Given the description of an element on the screen output the (x, y) to click on. 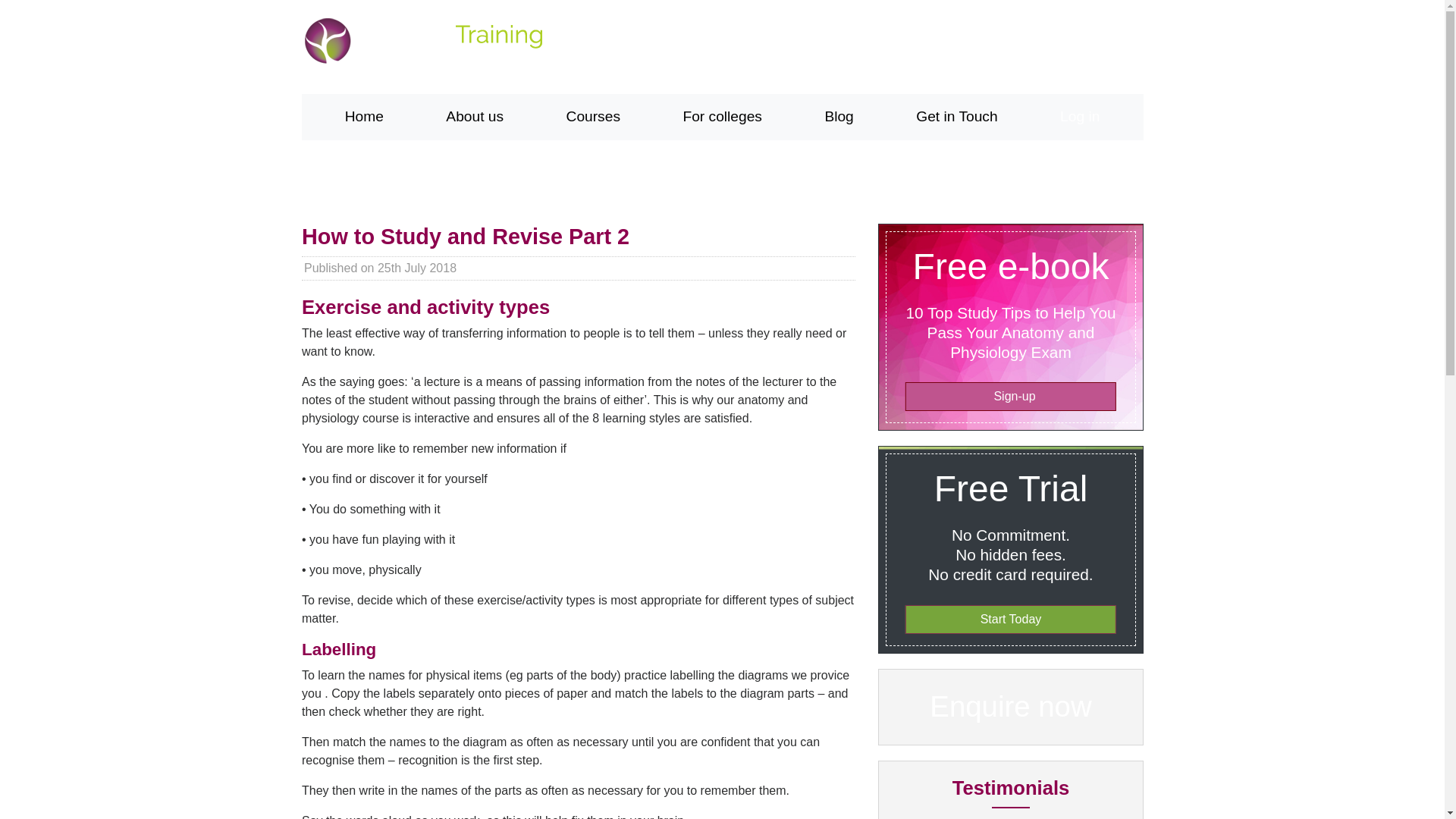
Home (364, 116)
Courses (592, 116)
Sign-up (1009, 396)
Get in Touch (957, 116)
About us (474, 116)
Log in (1080, 116)
Start Today (1009, 618)
Enquire now (1009, 710)
For colleges (721, 116)
Blog (839, 116)
